Given the description of an element on the screen output the (x, y) to click on. 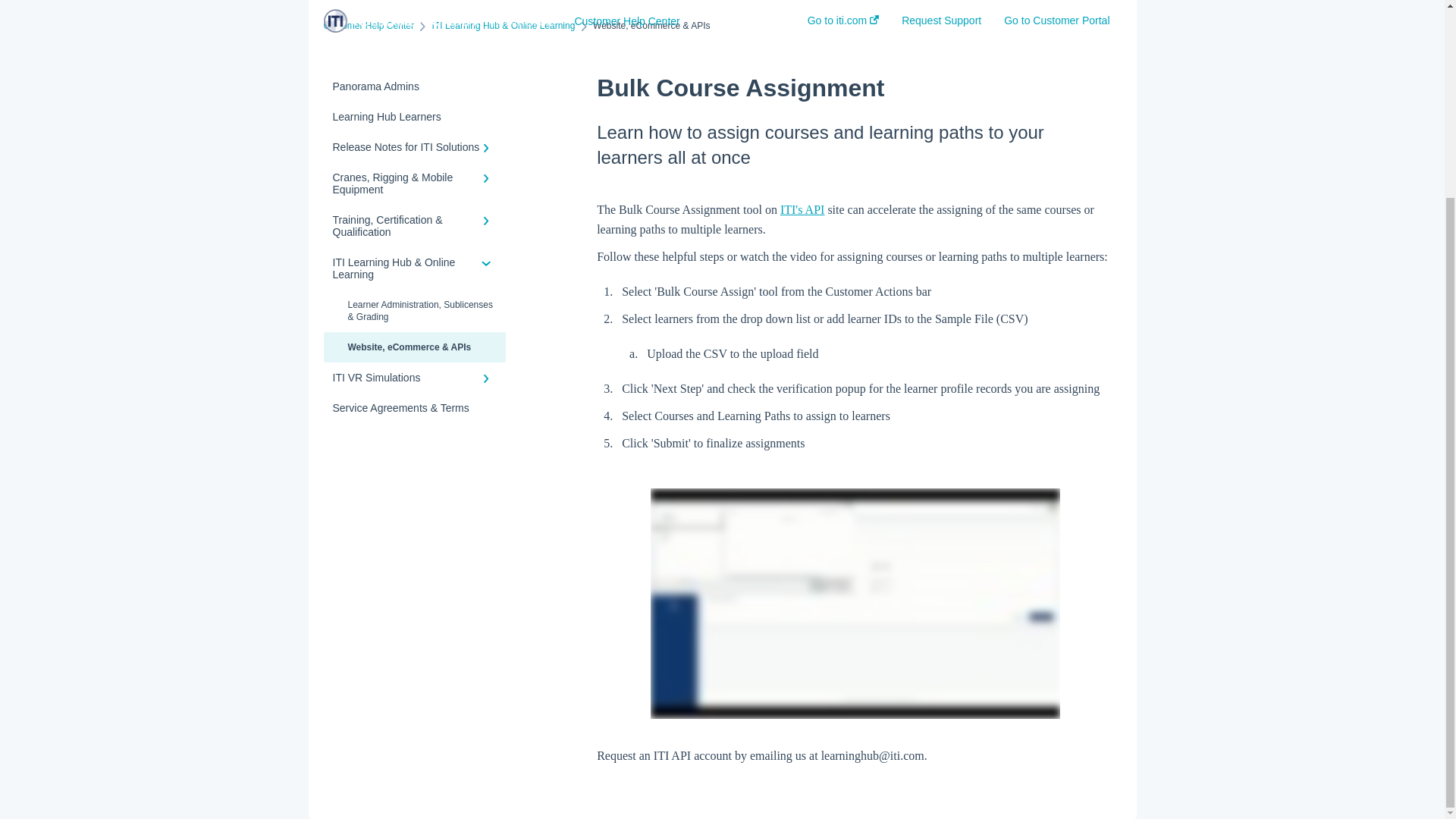
Customer Help Center (368, 25)
Panorama Admins (414, 86)
Release Notes for ITI Solutions (414, 146)
Learning Hub Learners (414, 116)
